Given the description of an element on the screen output the (x, y) to click on. 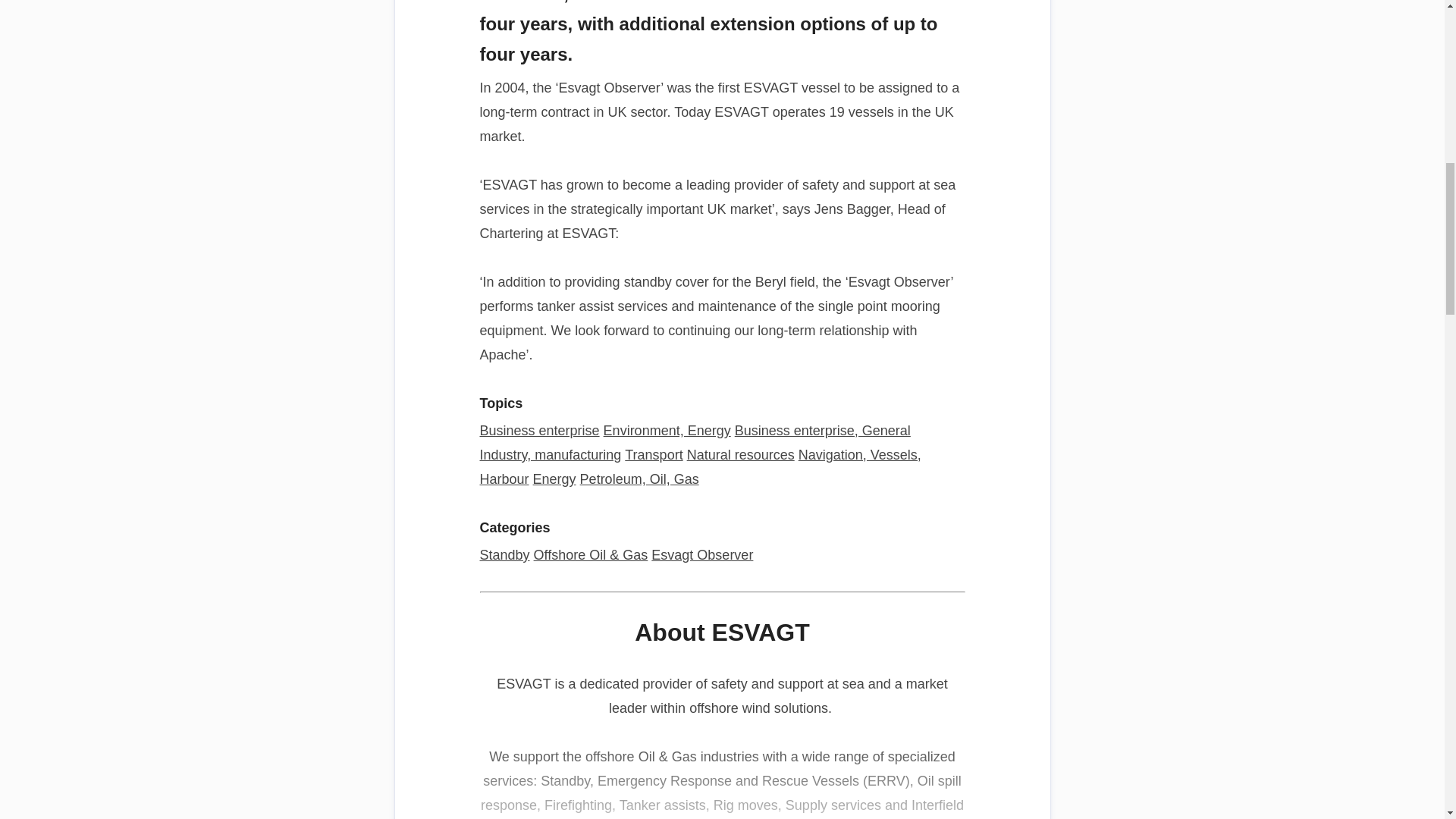
Esvagt Observer (701, 554)
Navigation, Vessels, Harbour (699, 466)
Industry, manufacturing (550, 454)
Petroleum, Oil, Gas (638, 478)
Transport (653, 454)
Business enterprise, General (823, 430)
Energy (554, 478)
Natural resources (740, 454)
Business enterprise (538, 430)
Environment, Energy (667, 430)
Standby (504, 554)
